Given the description of an element on the screen output the (x, y) to click on. 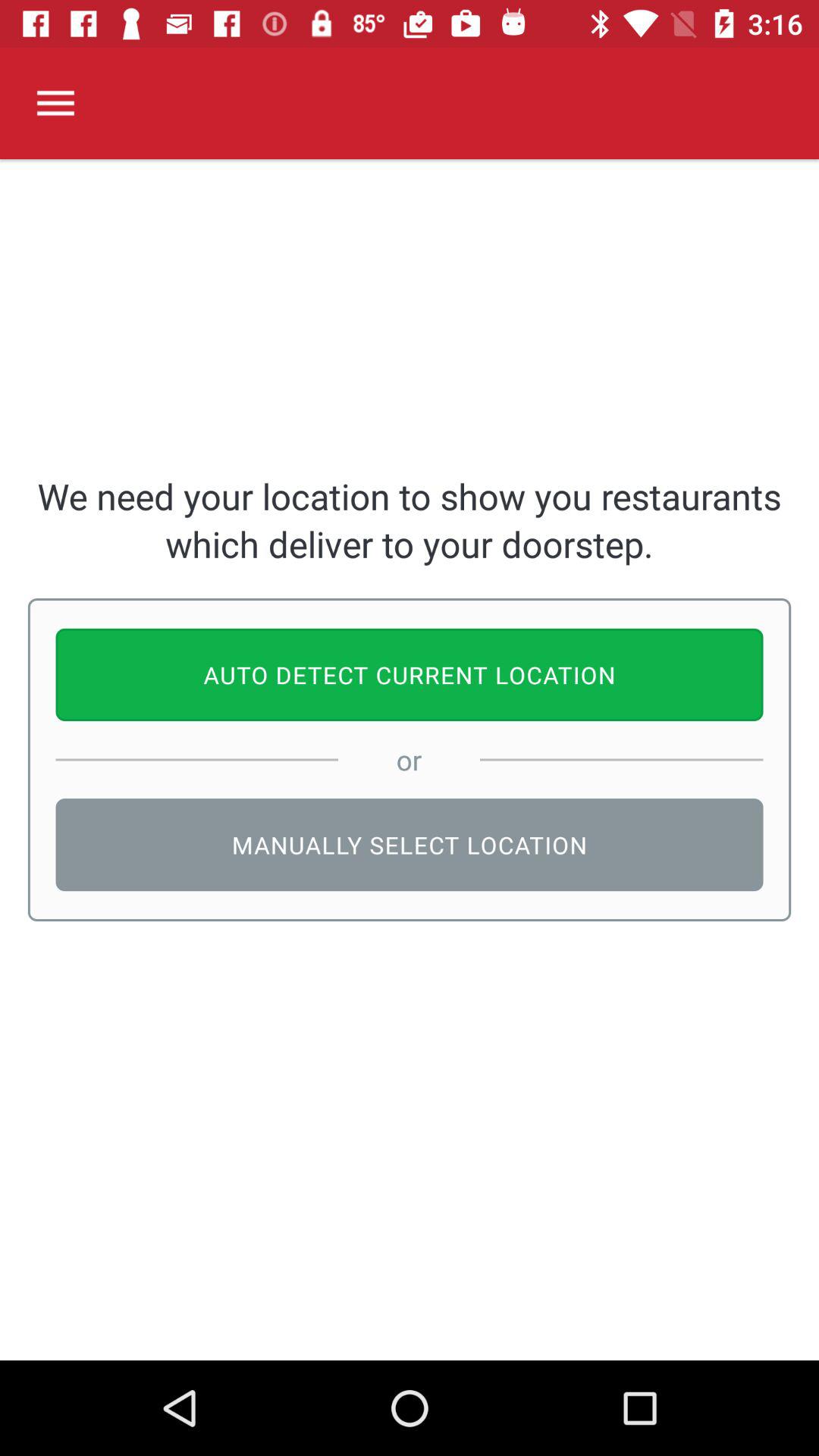
turn off the manually select location icon (409, 844)
